Given the description of an element on the screen output the (x, y) to click on. 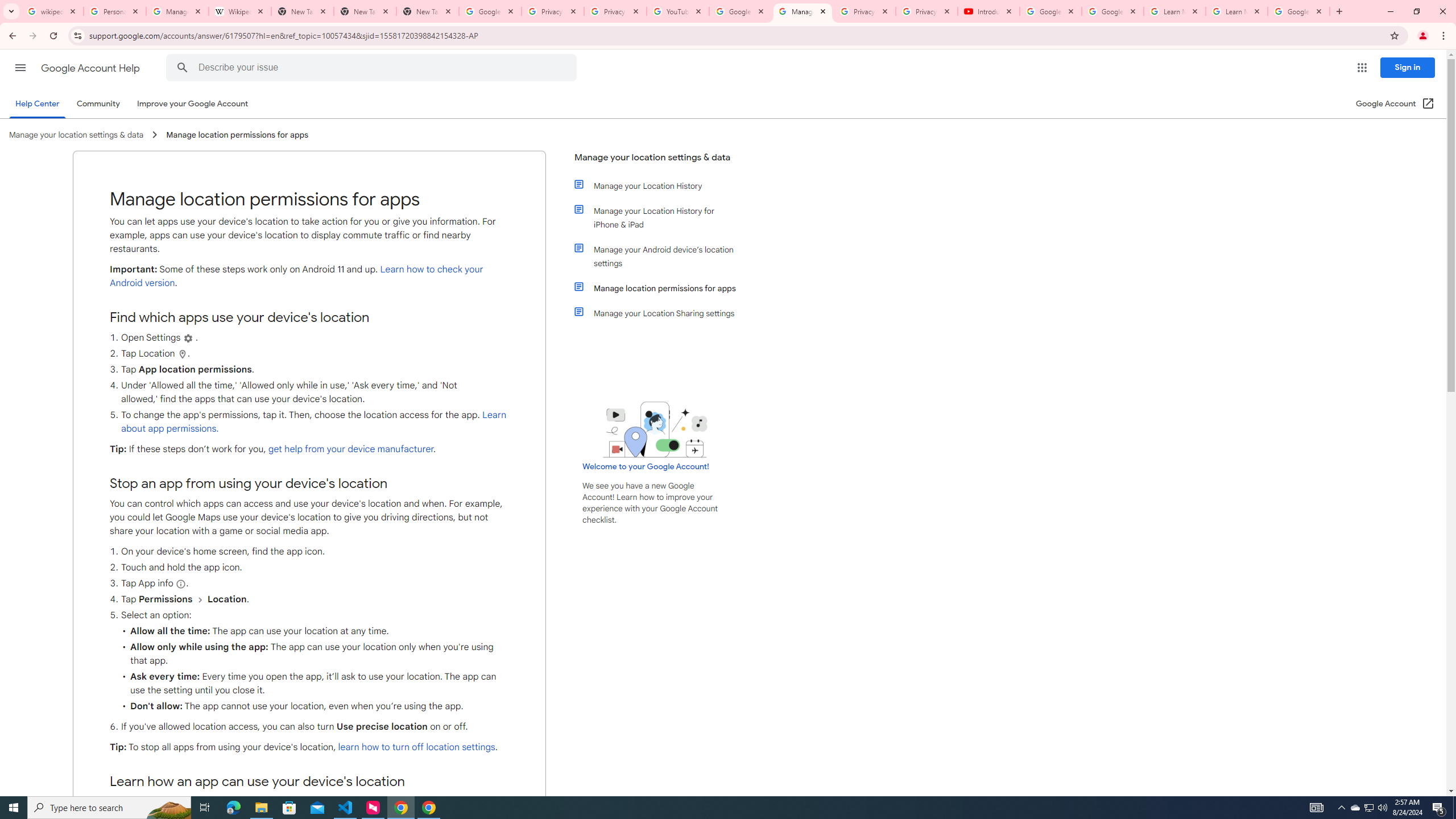
Describe your issue (373, 67)
Google Account Help (91, 68)
Google Account Help (740, 11)
Google Account (1298, 11)
get help from your device manufacturer (350, 449)
Introduction | Google Privacy Policy - YouTube (988, 11)
and then (200, 599)
Manage your Location Sharing settings (661, 312)
